Given the description of an element on the screen output the (x, y) to click on. 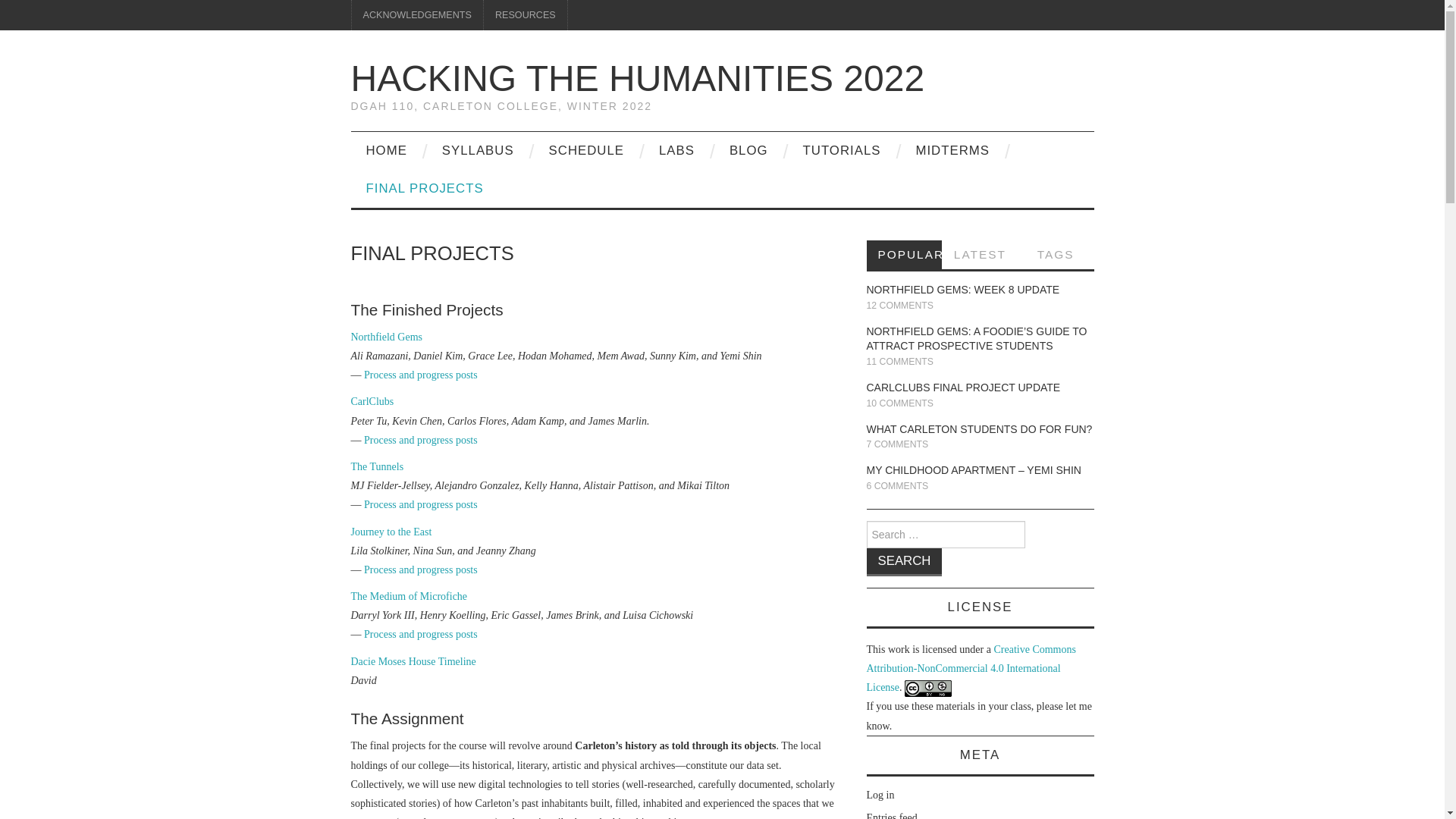
Process and progress posts (420, 633)
Dacie Moses House Timeline (413, 661)
SYLLABUS (477, 150)
Northfield Gems (386, 337)
Northfield Gems: Week 8 Update (962, 289)
TUTORIALS (841, 150)
What Carleton Students Do For Fun? (979, 428)
FINAL PROJECTS (423, 188)
Process and progress posts (420, 504)
Process and progress posts (420, 569)
CarlClubs Final Project Update (962, 387)
HOME (386, 150)
RESOURCES (525, 15)
The Medium of Microfiche (408, 595)
Hacking the Humanities 2022 (637, 78)
